Given the description of an element on the screen output the (x, y) to click on. 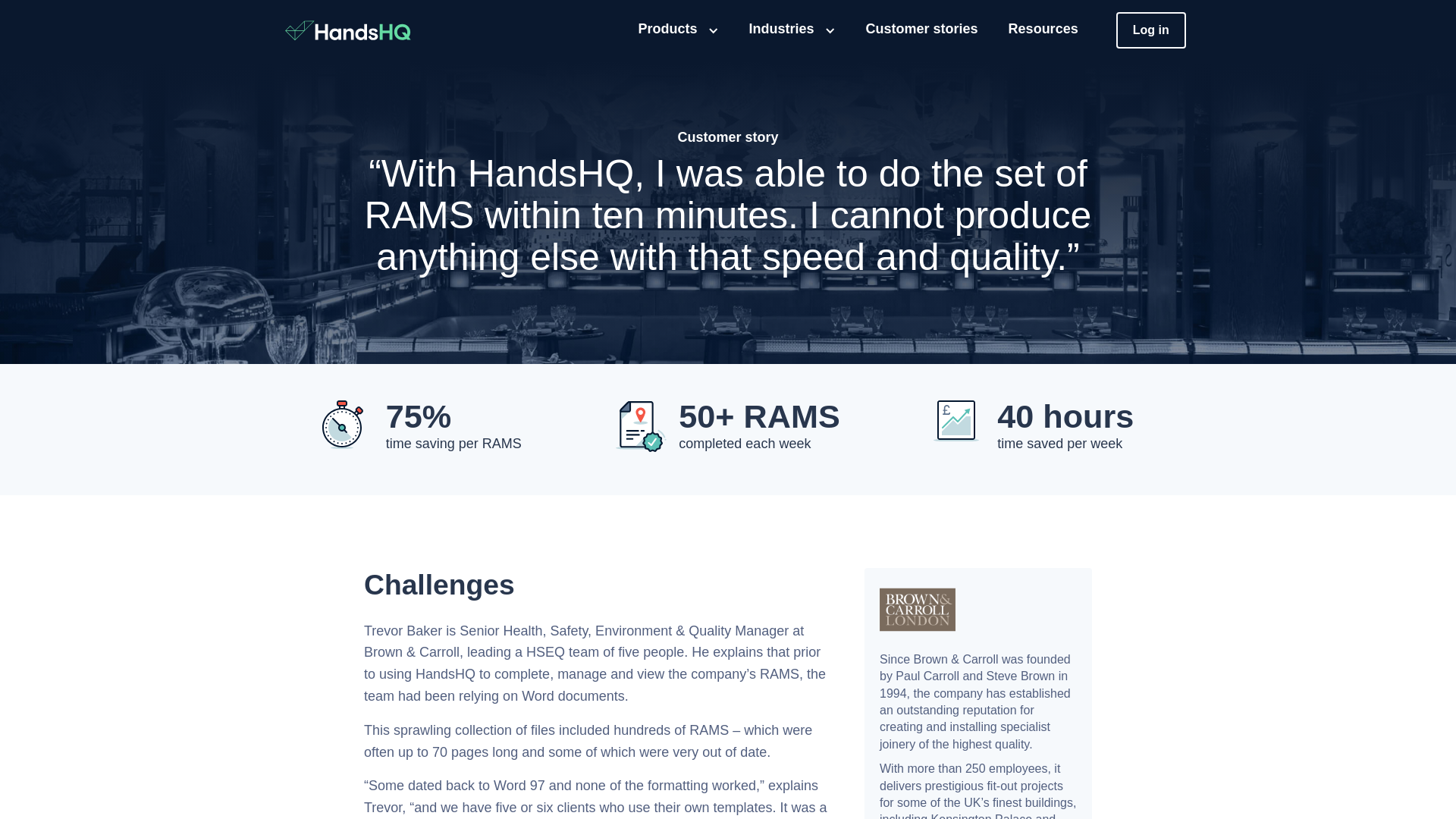
Log in (1151, 30)
Customer stories (922, 29)
Resources (1043, 29)
